Given the description of an element on the screen output the (x, y) to click on. 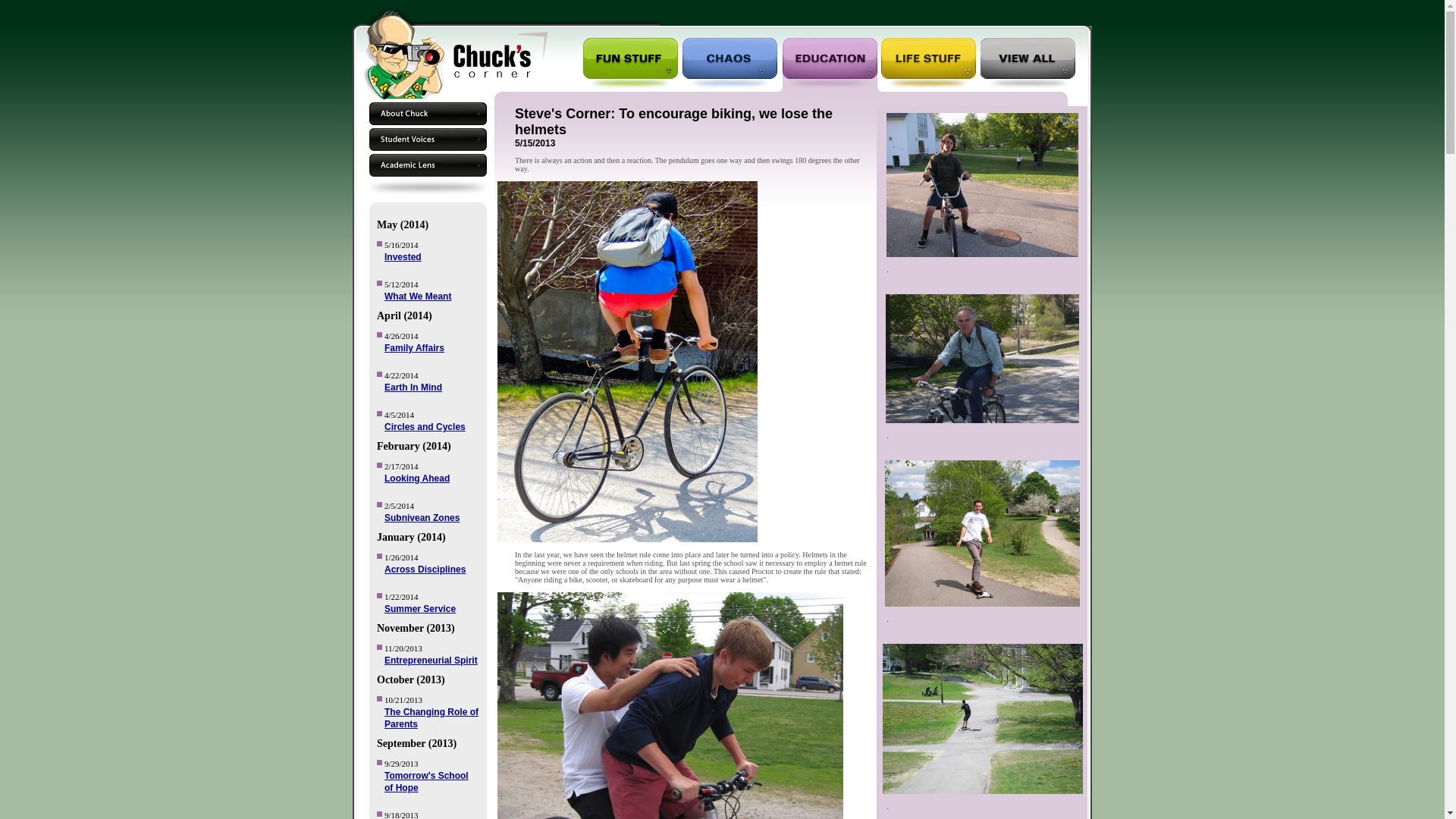
Entrepreneurial Spirit (430, 660)
The Changing Role of Parents (431, 717)
My Proctor (1021, 16)
Admissions (690, 16)
Home (1078, 16)
Proctor A To Z (769, 16)
Chucks Corner (945, 16)
Helmet by stephen1625, on Flickr (636, 538)
Earth In Mind (413, 387)
Tomorrow's School of Hope (426, 781)
Family Affairs (414, 347)
Invested (403, 256)
Summer Service (419, 608)
P1020036 by stephen1625, on Flickr (981, 420)
Circles and Cycles (424, 426)
